Given the description of an element on the screen output the (x, y) to click on. 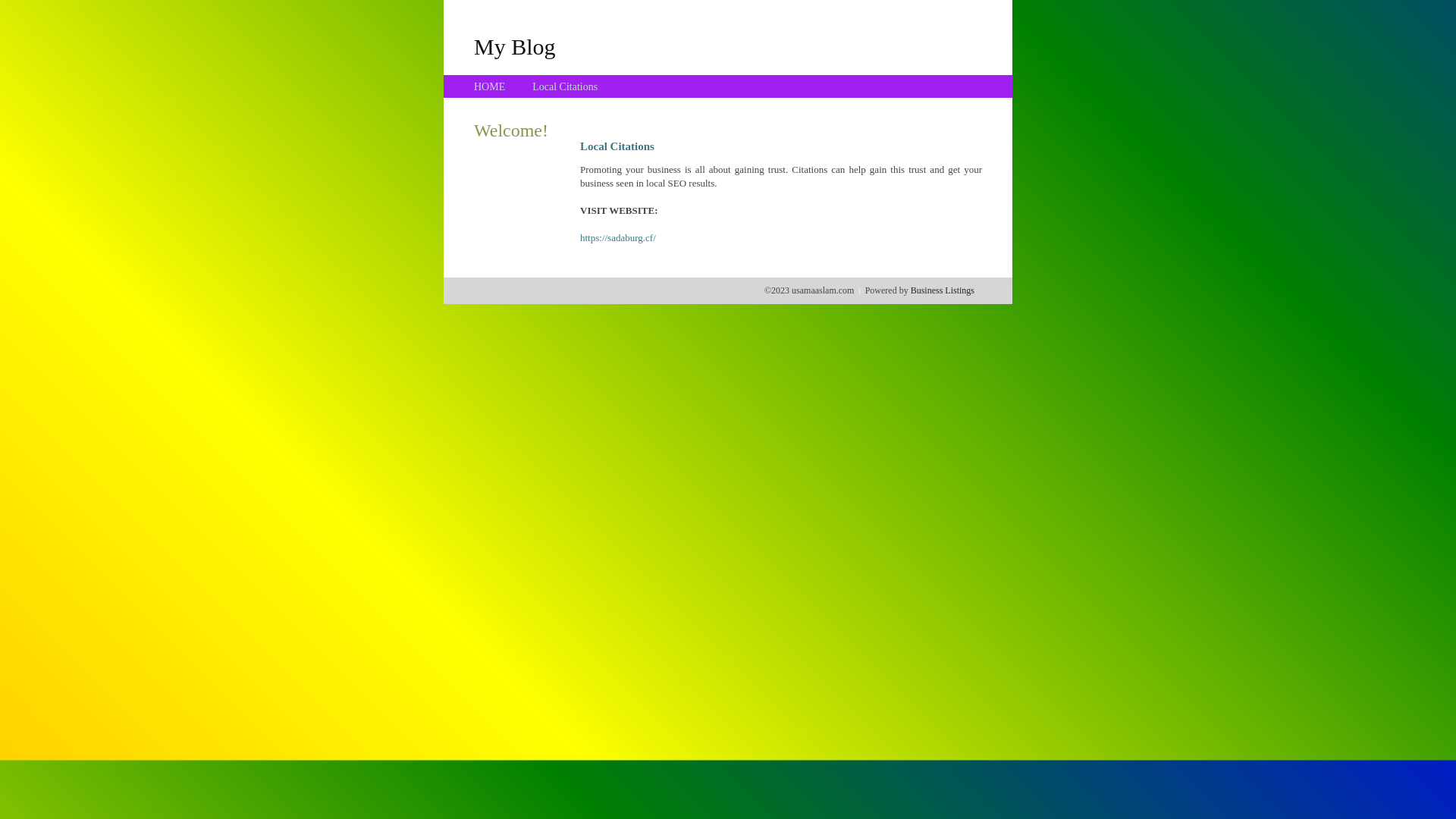
https://sadaburg.cf/ Element type: text (617, 237)
HOME Element type: text (489, 86)
Business Listings Element type: text (942, 290)
My Blog Element type: text (514, 46)
Local Citations Element type: text (564, 86)
